Given the description of an element on the screen output the (x, y) to click on. 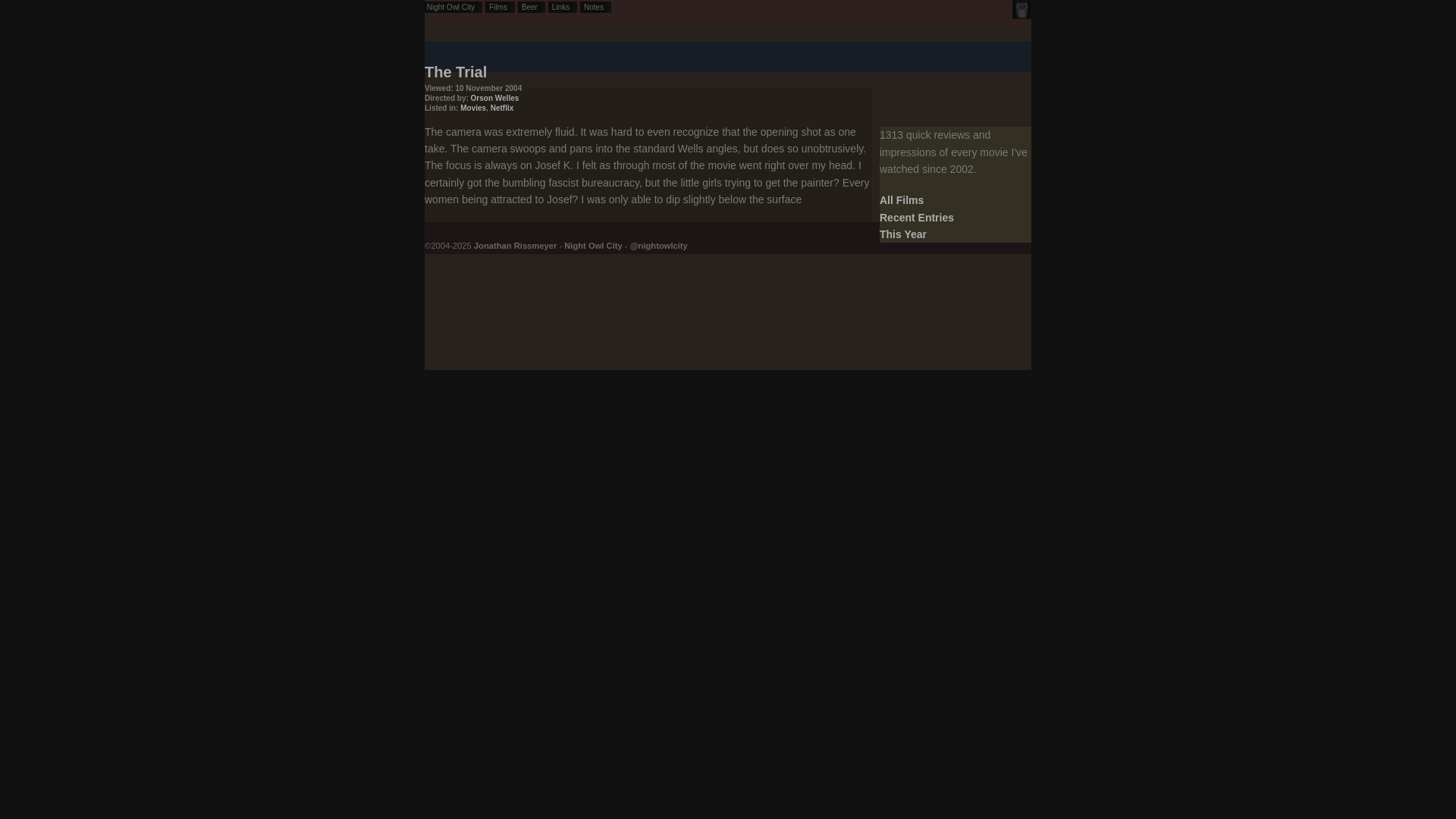
Orson Welles (494, 98)
Jonathan Rissmeyer (515, 245)
The Trial (455, 71)
Recent Entries (916, 217)
Netflix (501, 108)
Films (499, 7)
Notes (595, 7)
Night Owl (1020, 9)
Night Owl City (592, 245)
All Films (901, 200)
Links (562, 7)
This Year (902, 234)
Beer (531, 7)
Night Owl City (452, 7)
Movies (473, 108)
